Given the description of an element on the screen output the (x, y) to click on. 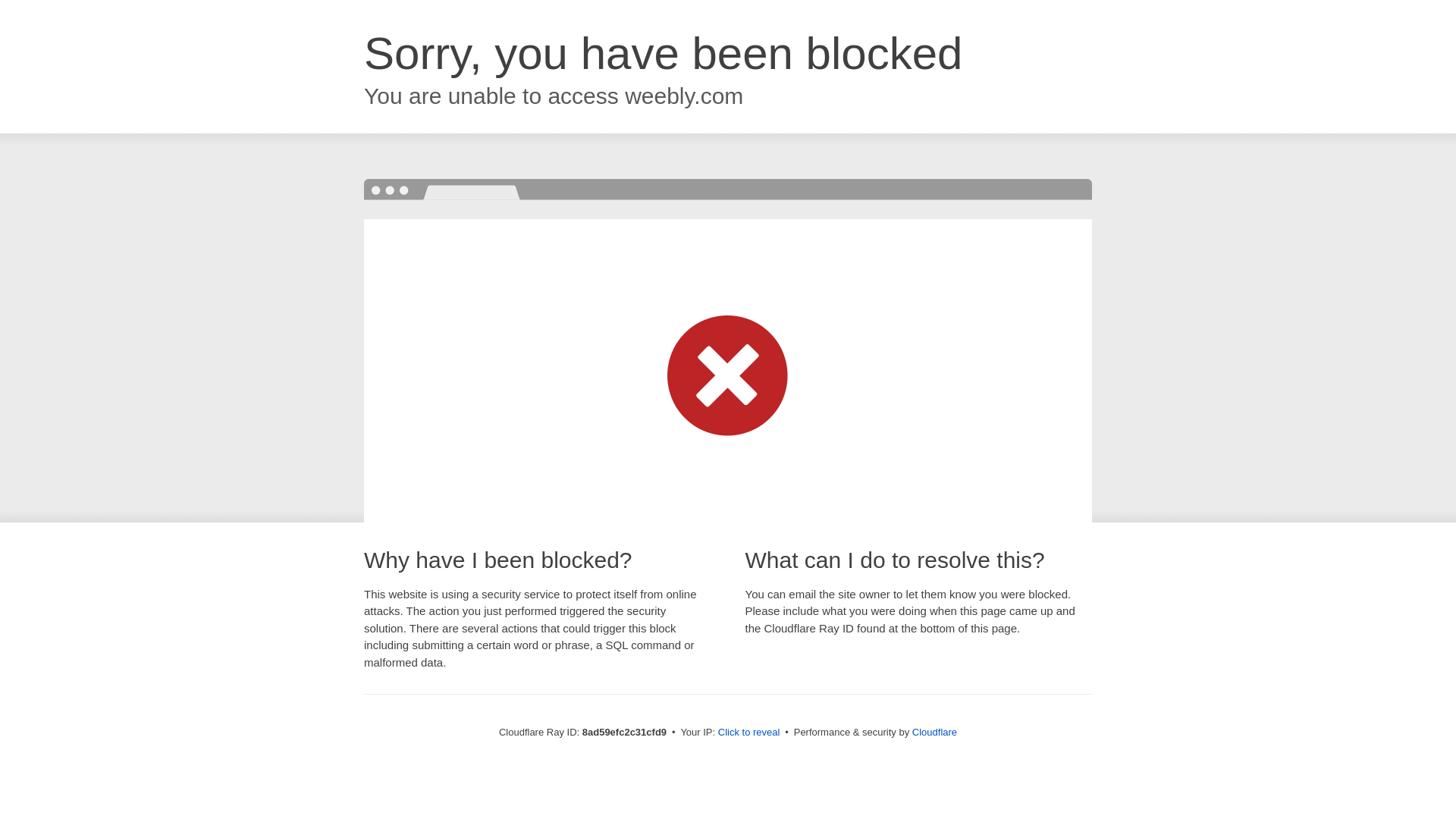
Click to reveal (748, 732)
Cloudflare (934, 731)
